Given the description of an element on the screen output the (x, y) to click on. 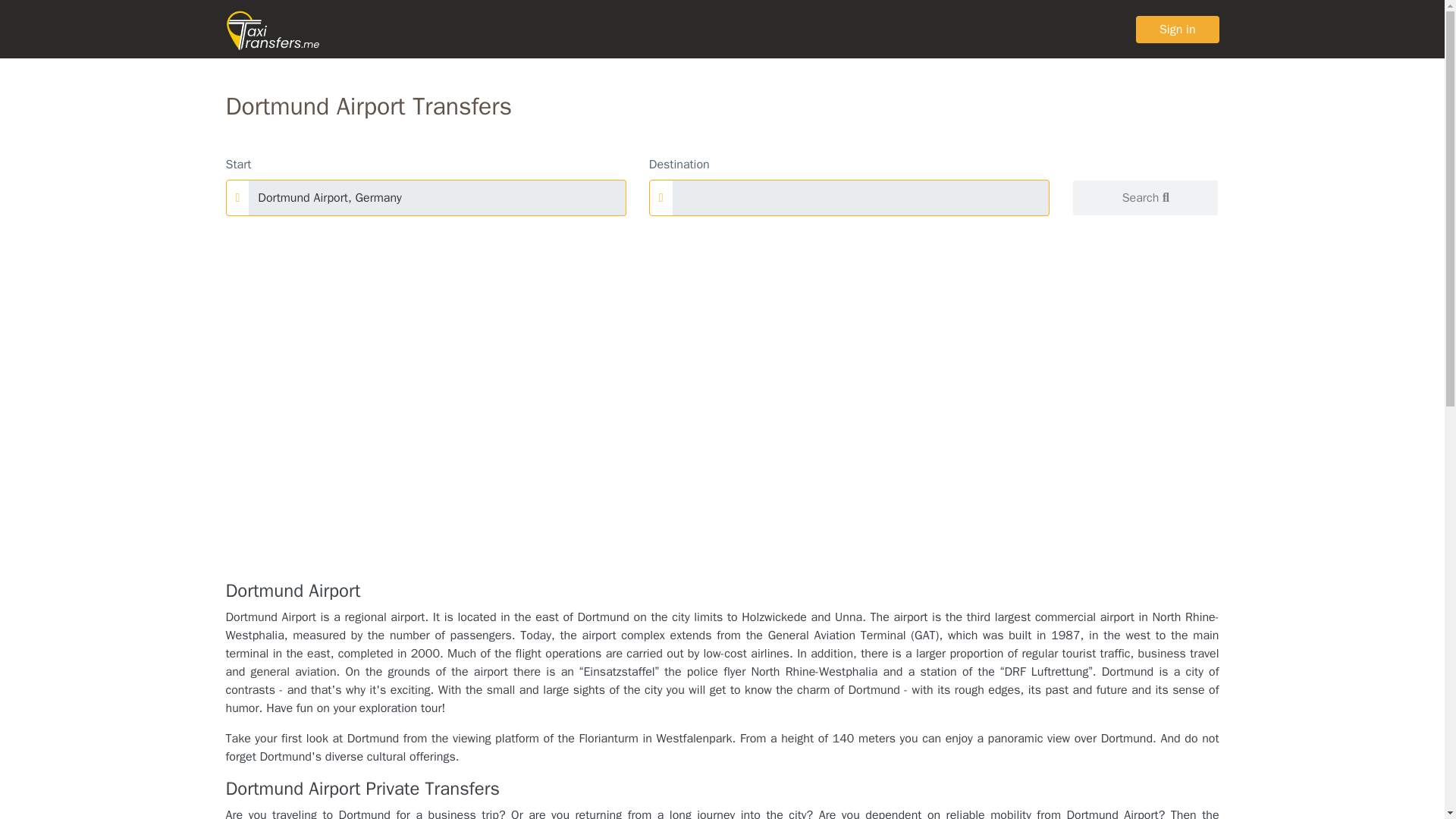
Sign in (1177, 28)
Dortmund Airport, Germany (437, 197)
Search (1144, 197)
